Given the description of an element on the screen output the (x, y) to click on. 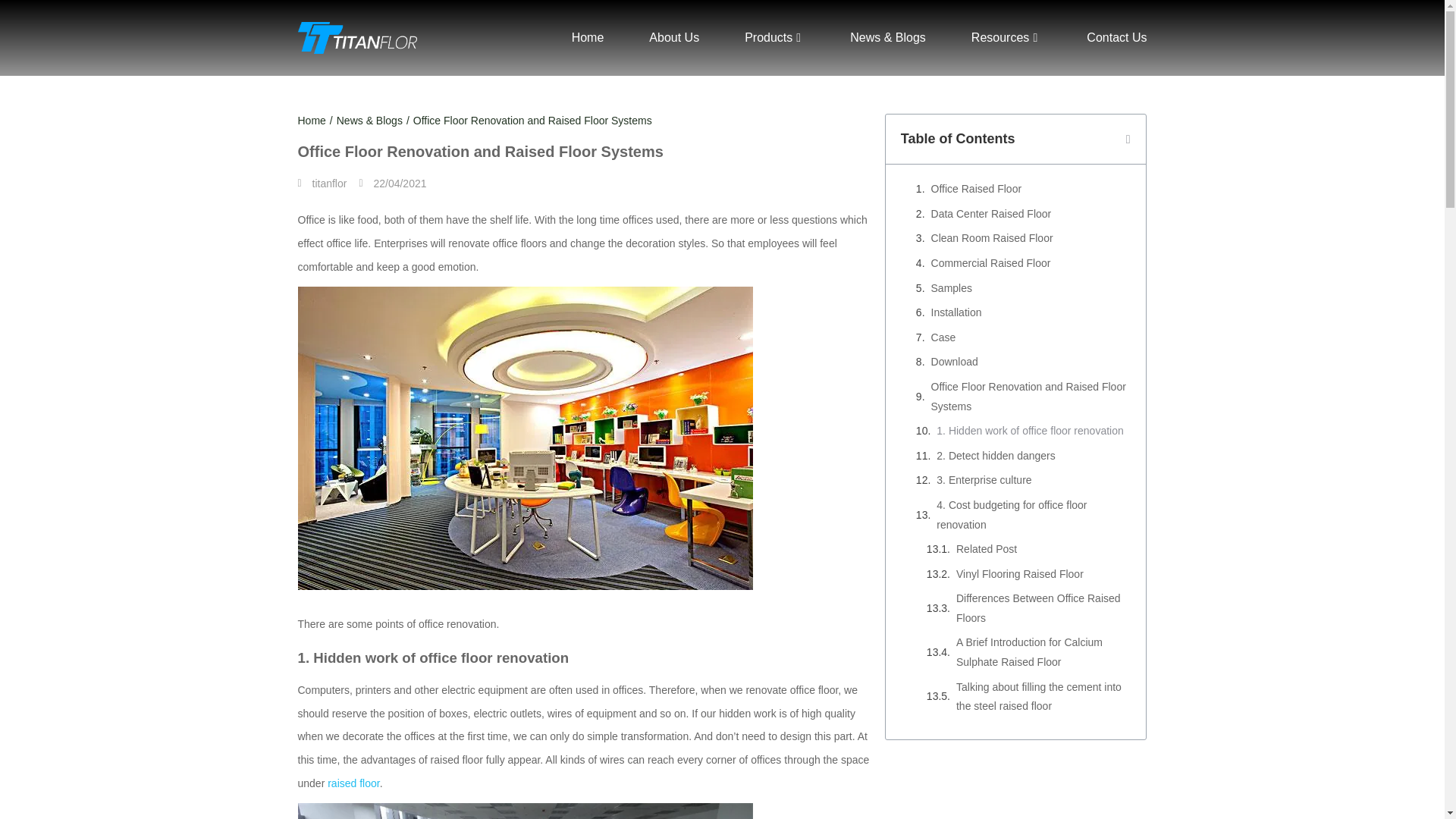
Products (774, 37)
Resources (1006, 37)
Contact Us (1116, 37)
About Us (673, 37)
Home (588, 37)
Home (310, 120)
